Given the description of an element on the screen output the (x, y) to click on. 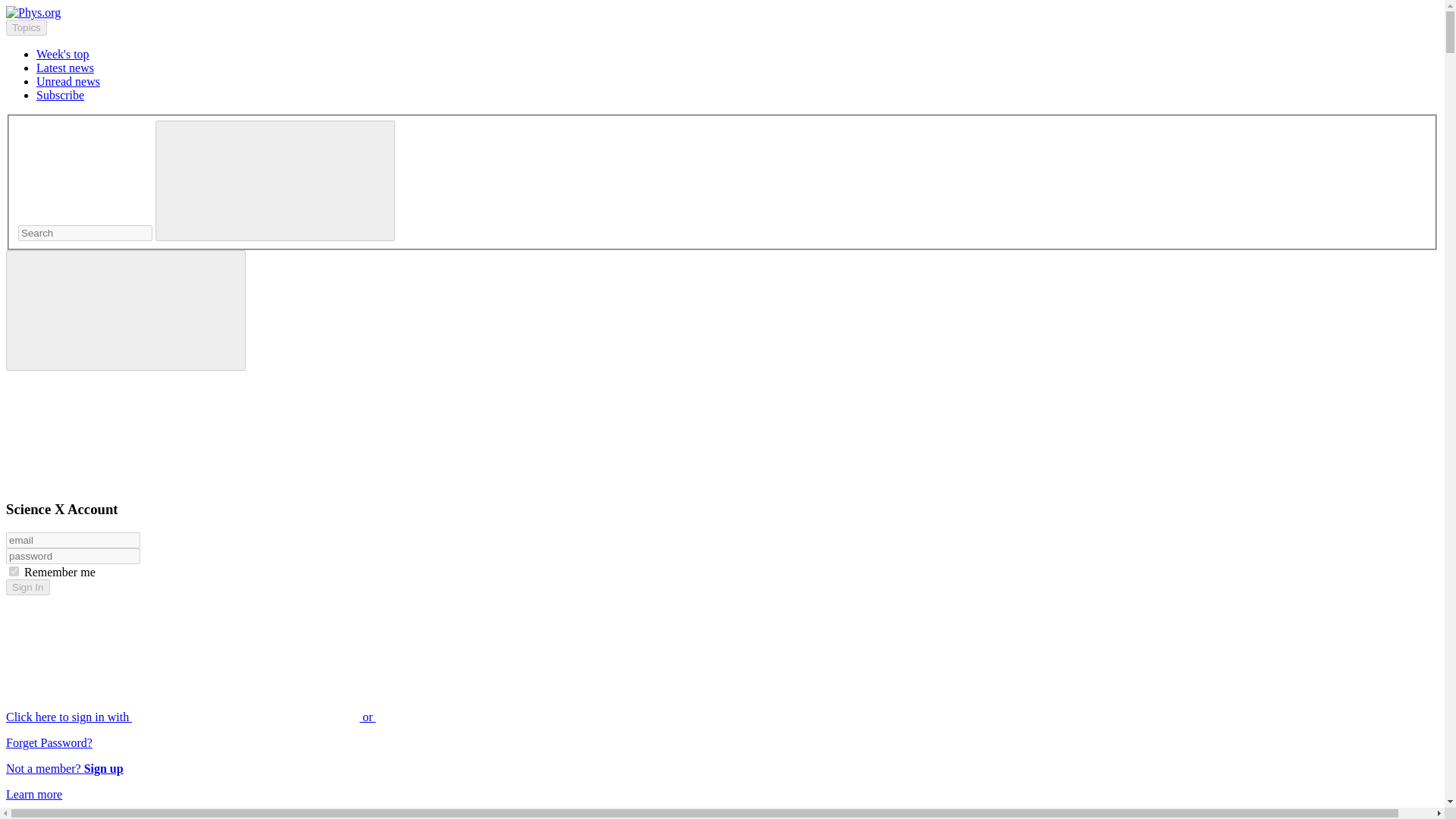
Learn more (33, 793)
Subscribe (60, 94)
Sign In (27, 587)
Latest news (65, 67)
Unread news (68, 81)
Click here to sign in with or (304, 716)
Not a member? Sign up (64, 768)
on (13, 571)
Nanotechnology (76, 816)
Topics (25, 27)
Forget Password? (49, 742)
Week's top (62, 53)
